Given the description of an element on the screen output the (x, y) to click on. 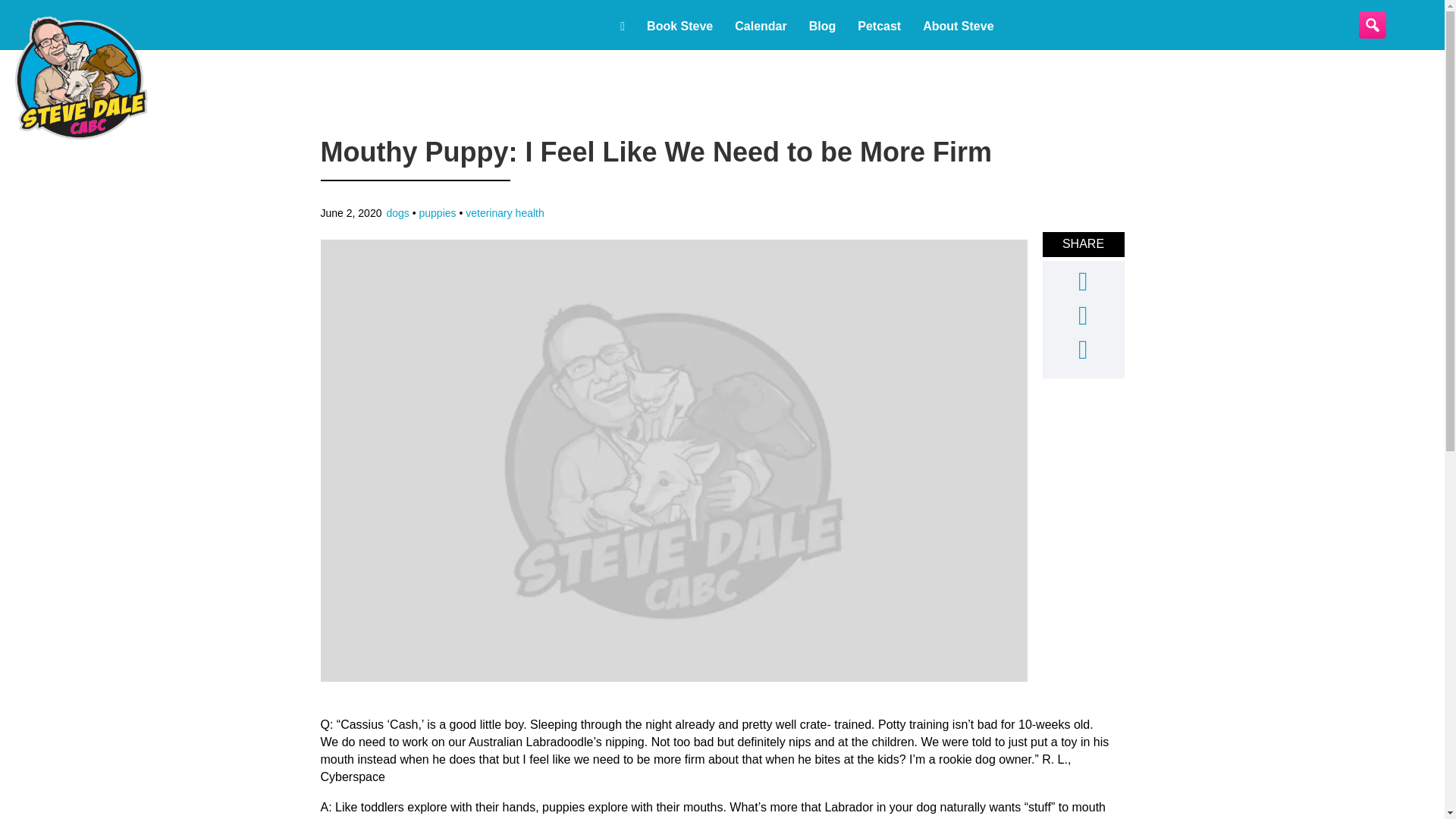
puppies (438, 213)
dogs (397, 213)
Calendar (759, 25)
Book Steve (679, 25)
Petcast (879, 25)
Blog (822, 25)
veterinary health (504, 213)
About Steve (958, 25)
